Given the description of an element on the screen output the (x, y) to click on. 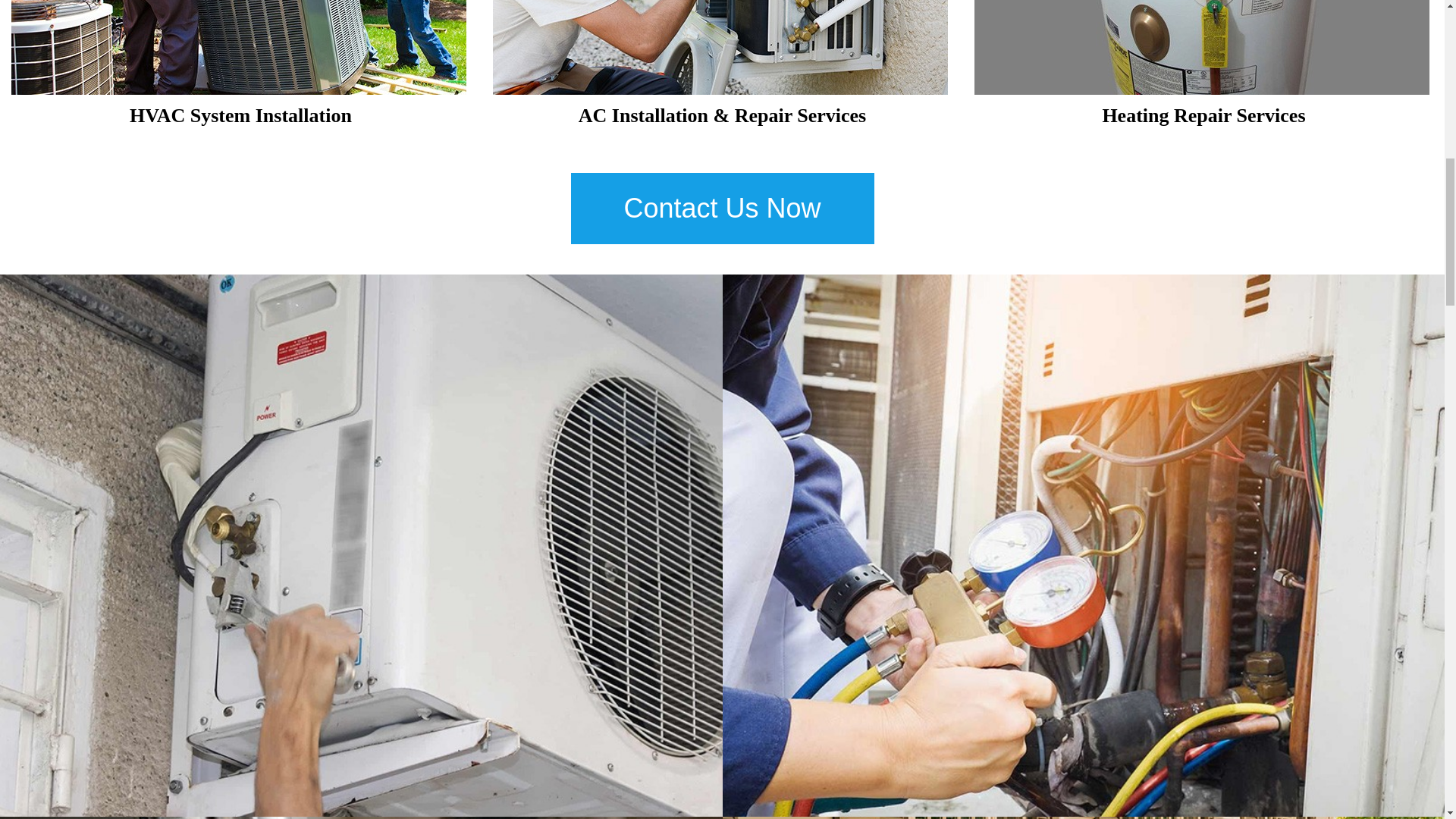
Contact Us Now (721, 208)
